Given the description of an element on the screen output the (x, y) to click on. 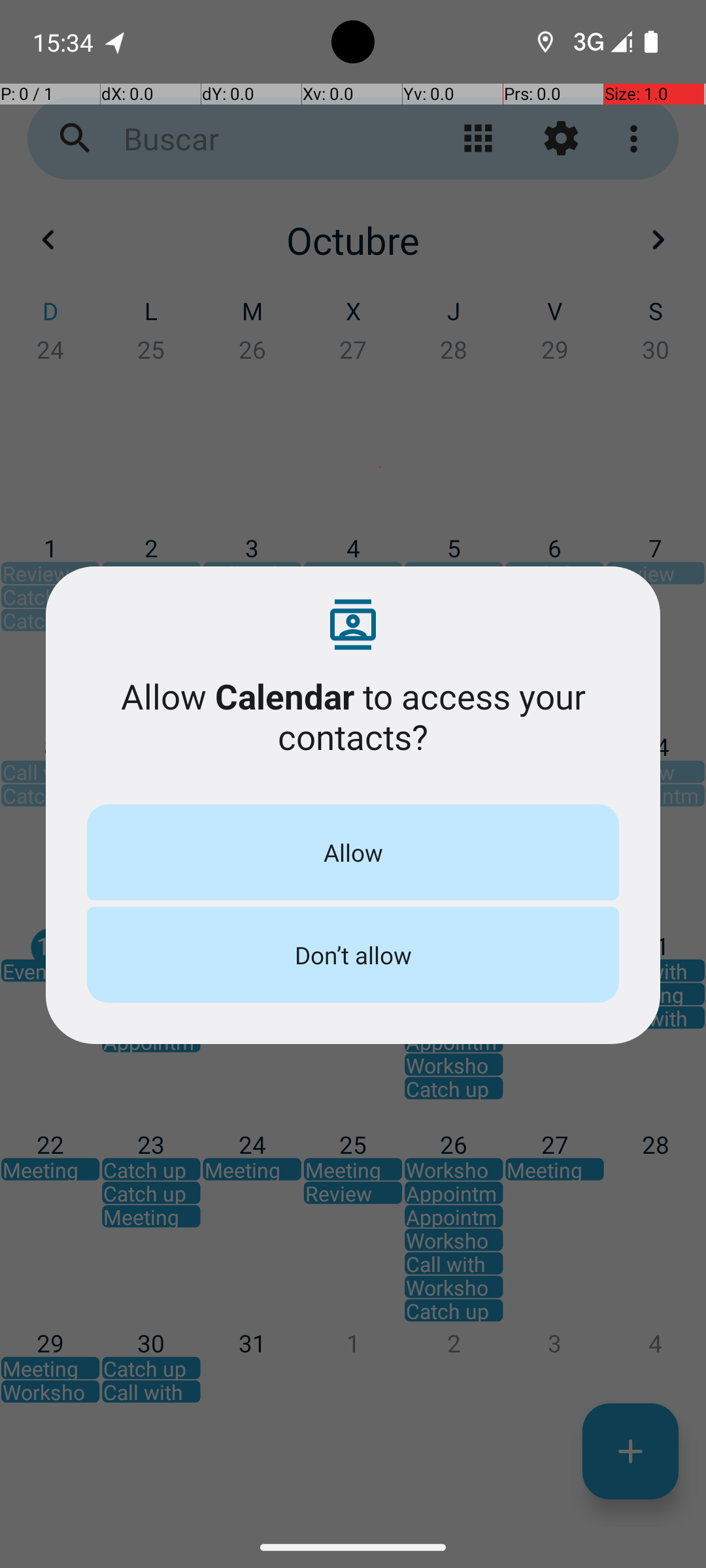
Allow Calendar to access your contacts? Element type: android.widget.TextView (352, 715)
Allow Element type: android.widget.Button (352, 852)
Don’t allow Element type: android.widget.Button (352, 954)
